Given the description of an element on the screen output the (x, y) to click on. 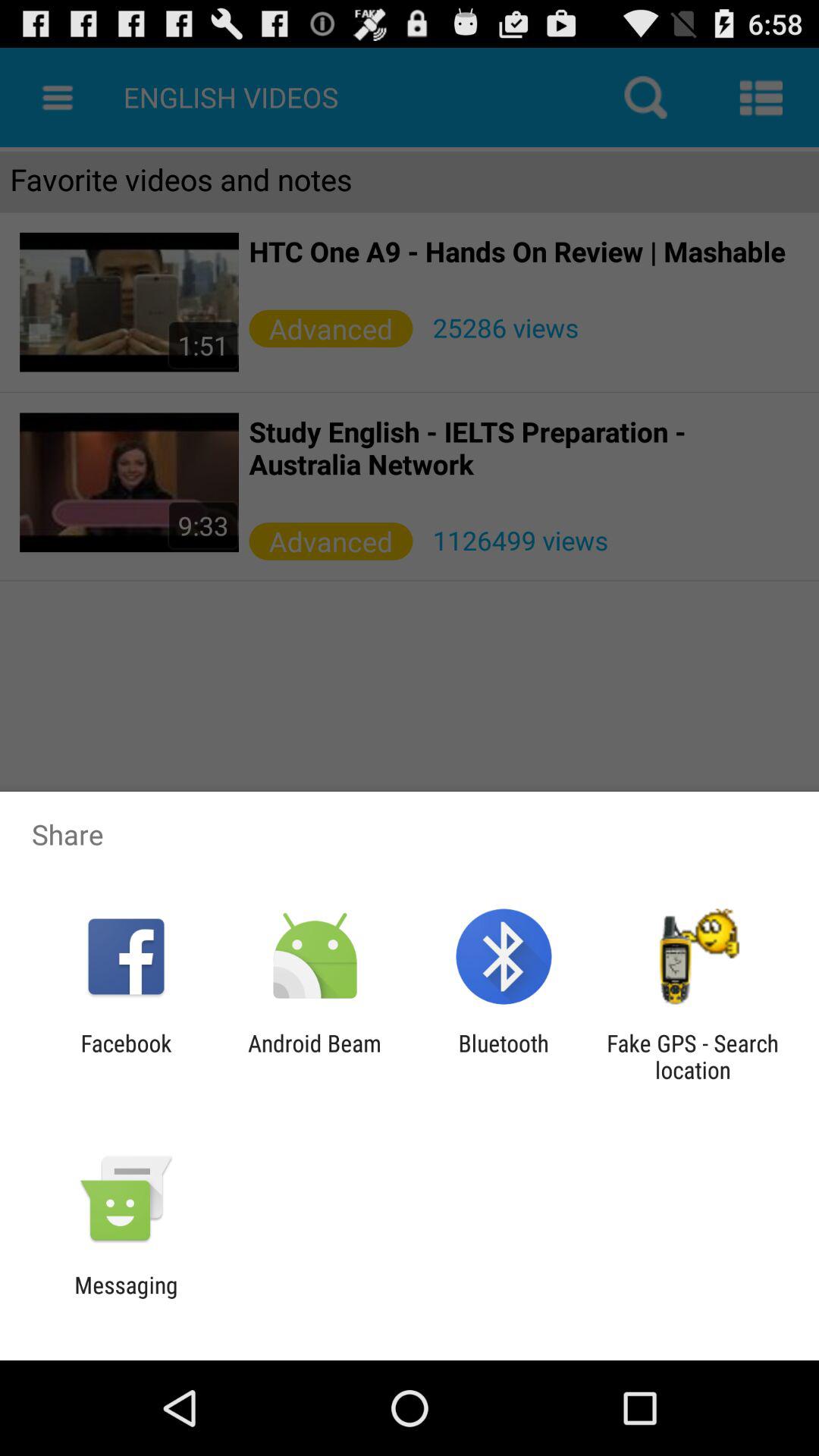
flip to android beam item (314, 1056)
